Given the description of an element on the screen output the (x, y) to click on. 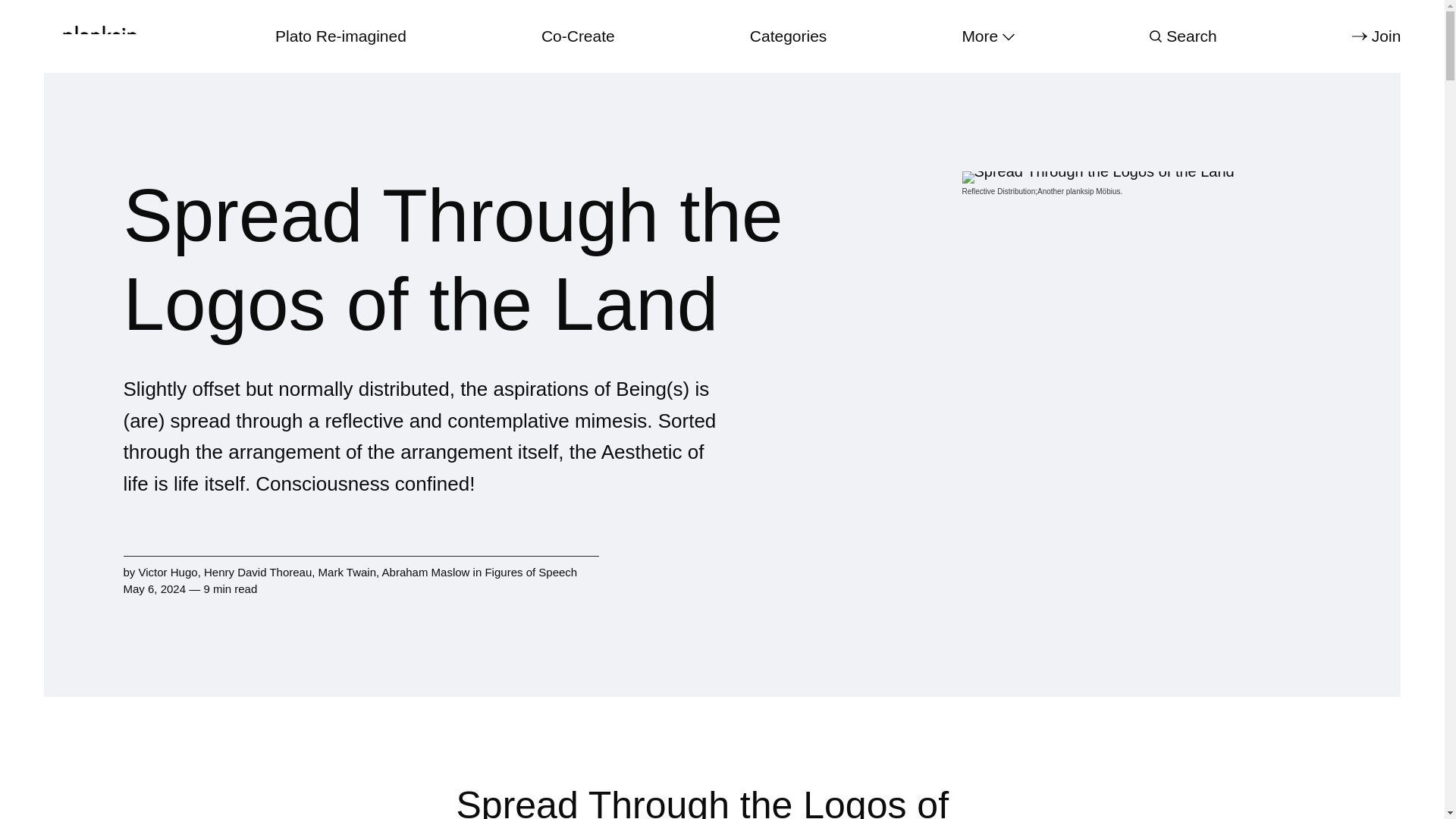
Victor Hugo (168, 571)
Mark Twain (346, 571)
Join (1376, 36)
Co-Create (577, 36)
Abraham Maslow (425, 571)
Figures of Speech (530, 571)
Henry David Thoreau (257, 571)
Categories (788, 36)
Plato Re-imagined (340, 36)
